Given the description of an element on the screen output the (x, y) to click on. 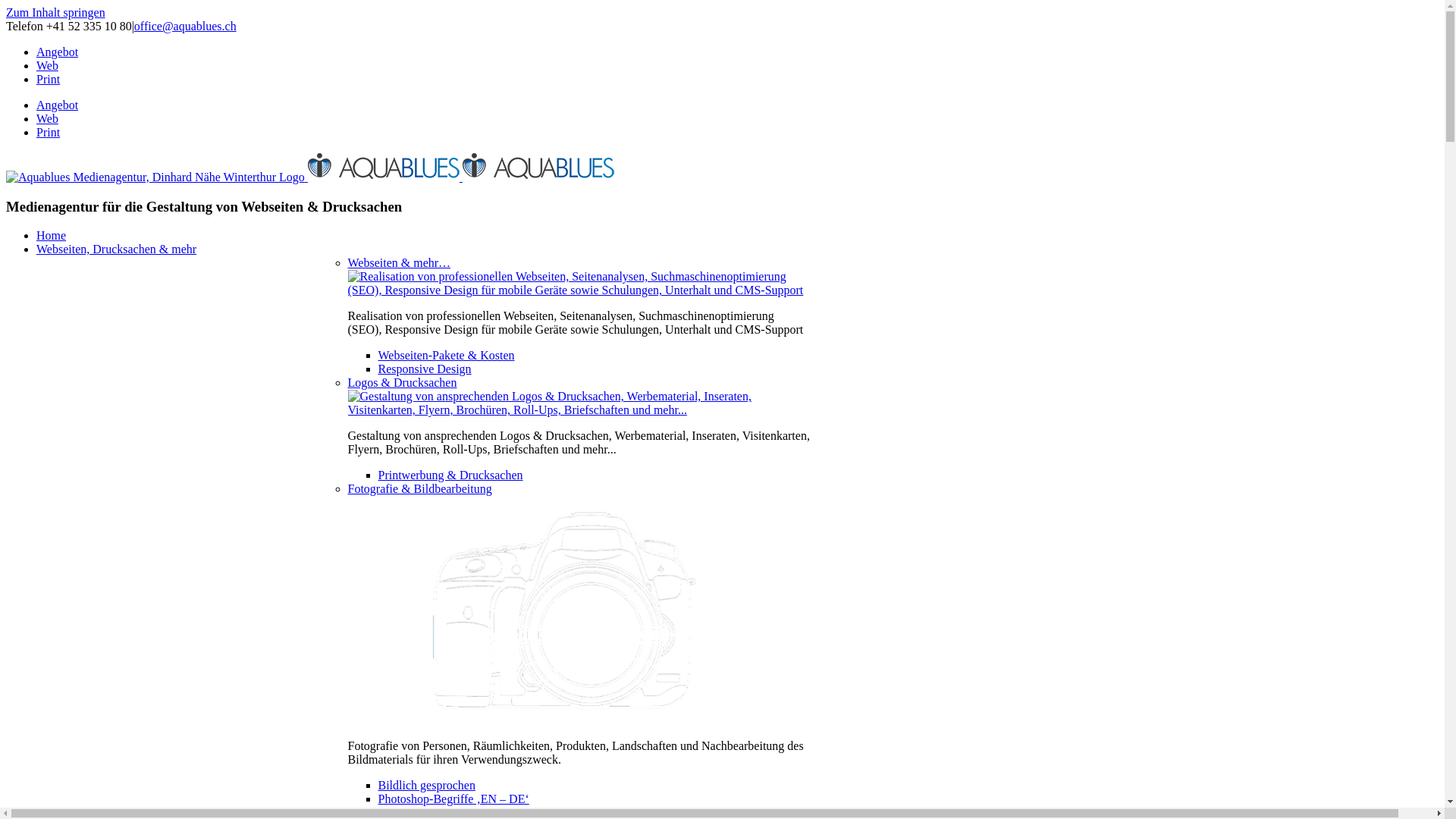
Web Element type: text (47, 65)
Zum Inhalt springen Element type: text (55, 12)
Print Element type: text (47, 131)
Web Element type: text (47, 118)
Fotografie & Bildbearbeitung Element type: text (419, 488)
Home Element type: text (50, 235)
Webseiten, Drucksachen & mehr Element type: text (116, 248)
Angebot Element type: text (57, 104)
office@aquablues.ch Element type: text (185, 25)
Print Element type: text (47, 78)
Printwerbung & Drucksachen Element type: text (449, 474)
Logos & Drucksachen Element type: text (401, 382)
Angebot Element type: text (57, 51)
Bildlich gesprochen Element type: text (425, 784)
Webseiten-Pakete & Kosten Element type: text (445, 354)
Responsive Design Element type: text (423, 368)
